Given the description of an element on the screen output the (x, y) to click on. 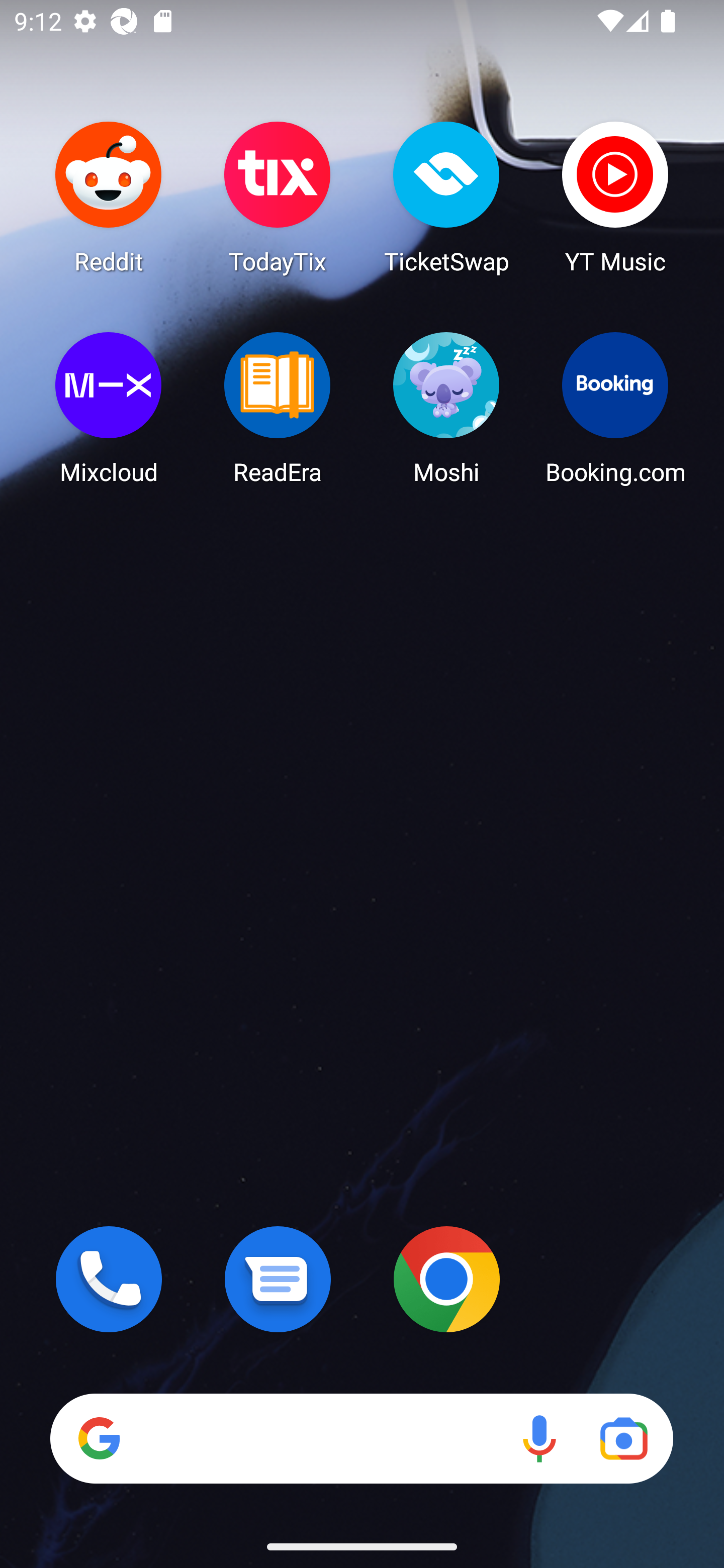
Reddit (108, 196)
TodayTix (277, 196)
TicketSwap (445, 196)
YT Music (615, 196)
Mixcloud (108, 407)
ReadEra (277, 407)
Moshi (445, 407)
Booking.com (615, 407)
Phone (108, 1279)
Messages (277, 1279)
Chrome (446, 1279)
Search Voice search Google Lens (361, 1438)
Voice search (539, 1438)
Google Lens (623, 1438)
